Given the description of an element on the screen output the (x, y) to click on. 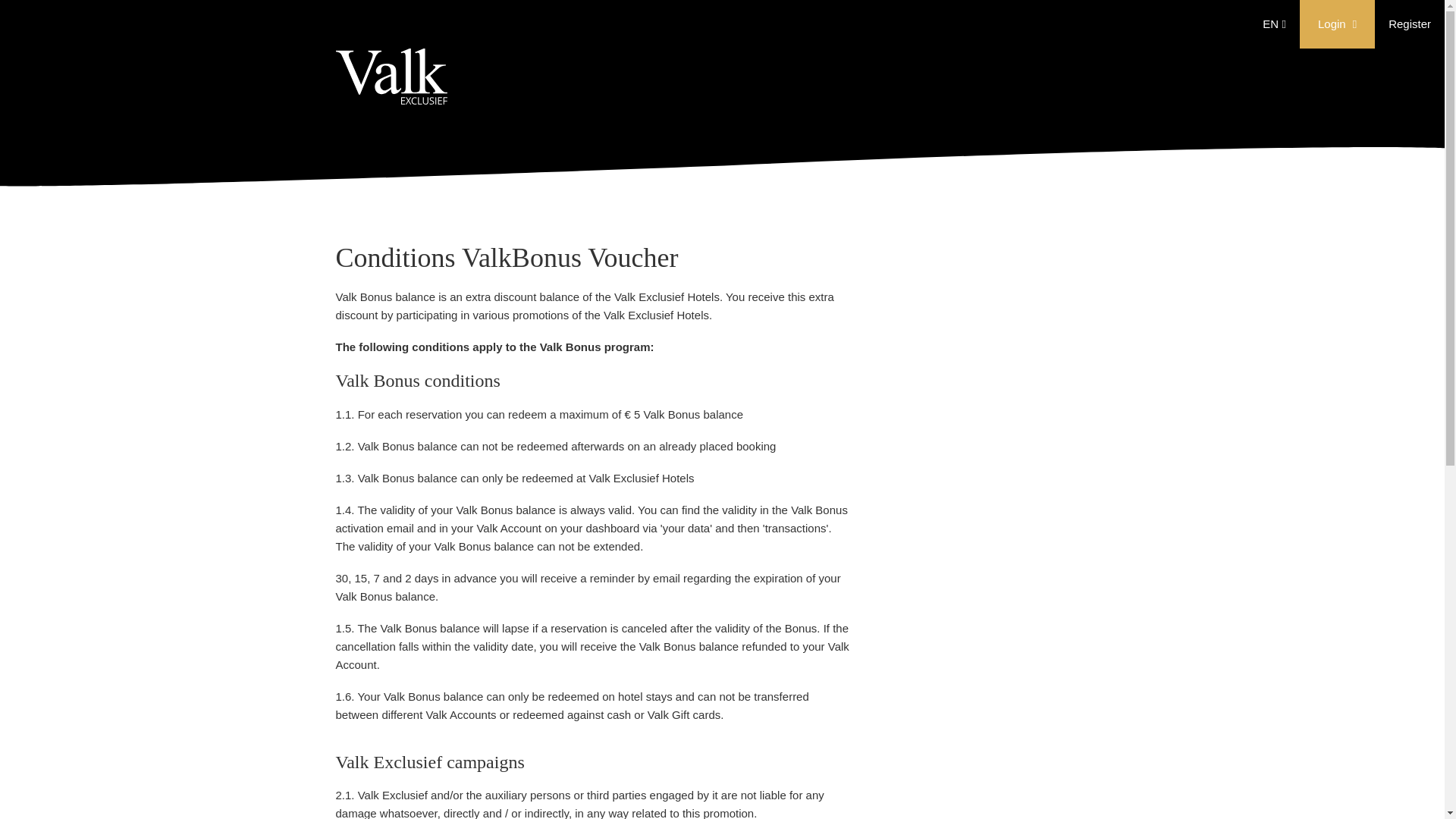
EN (1273, 24)
Valk Exclusief (390, 85)
Login (1337, 24)
Register (1410, 23)
Register (1410, 23)
